Given the description of an element on the screen output the (x, y) to click on. 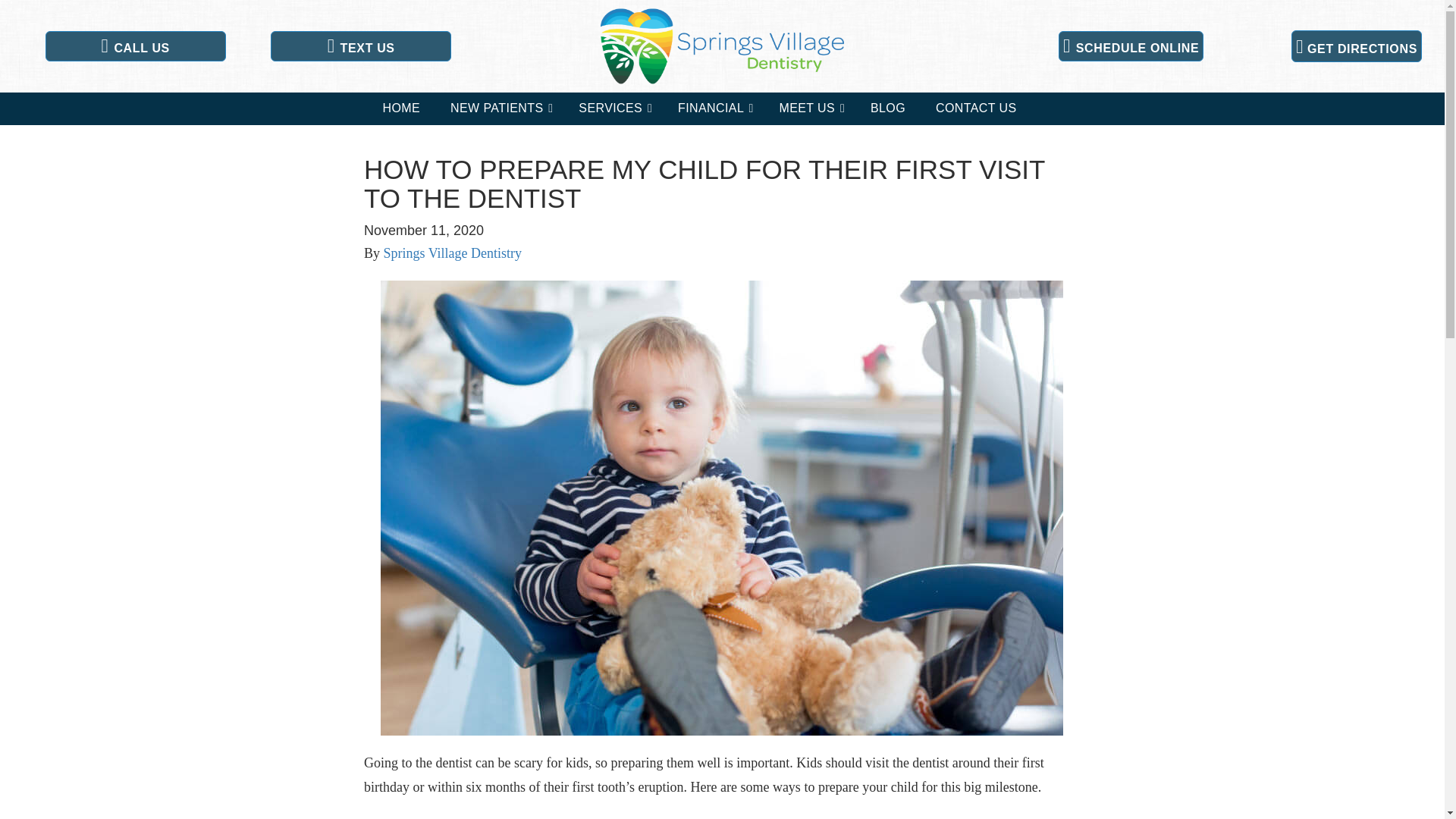
Home (400, 108)
New Patients (499, 108)
CALL US (135, 46)
Services (612, 108)
SERVICES (612, 108)
HOME (400, 108)
NEW PATIENTS (499, 108)
TEXT US (360, 46)
GET DIRECTIONS (1356, 46)
SCHEDULE ONLINE (1131, 46)
